Given the description of an element on the screen output the (x, y) to click on. 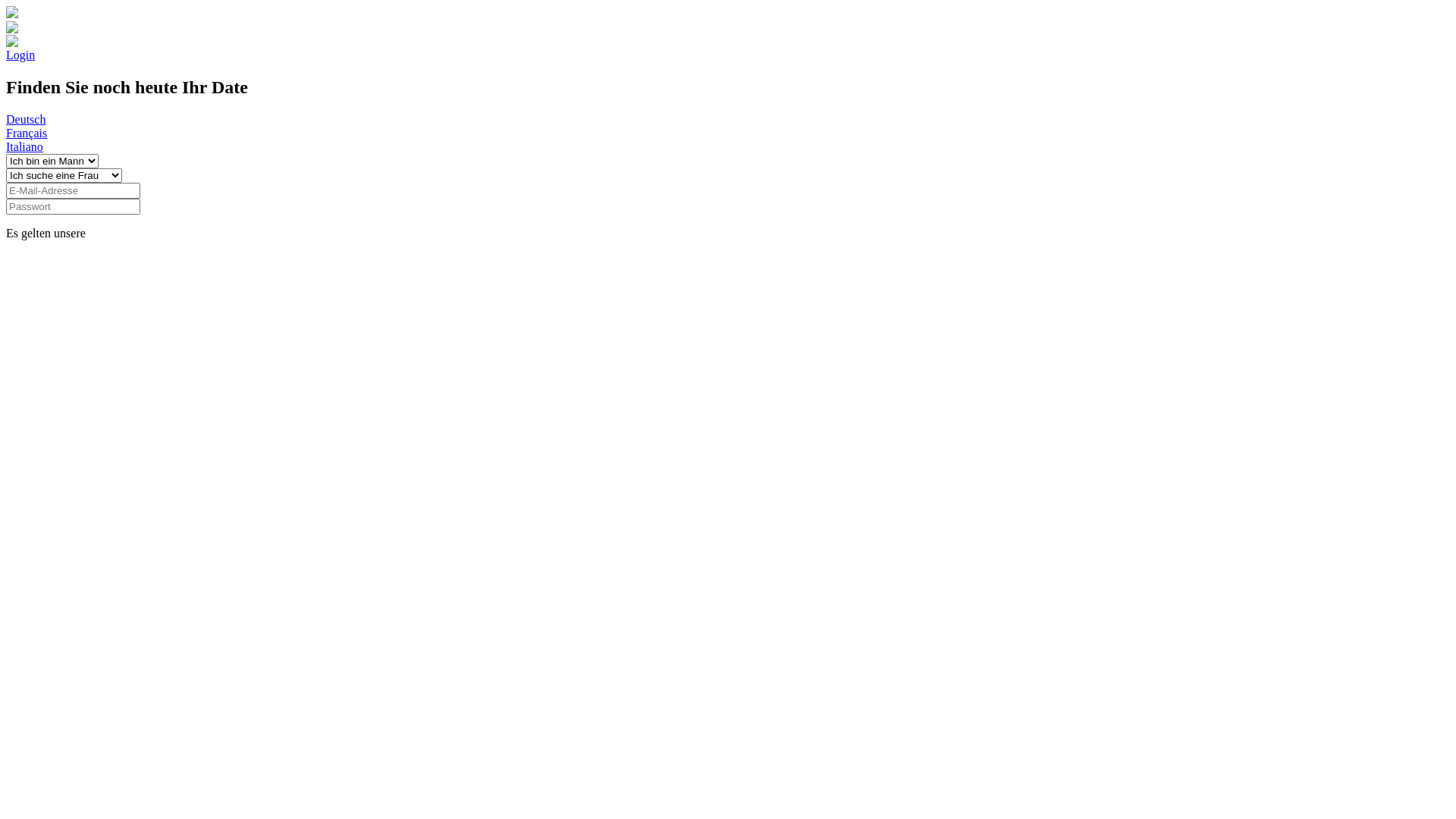
Italiano Element type: text (24, 146)
Login Element type: text (20, 54)
Deutsch Element type: text (25, 118)
